Given the description of an element on the screen output the (x, y) to click on. 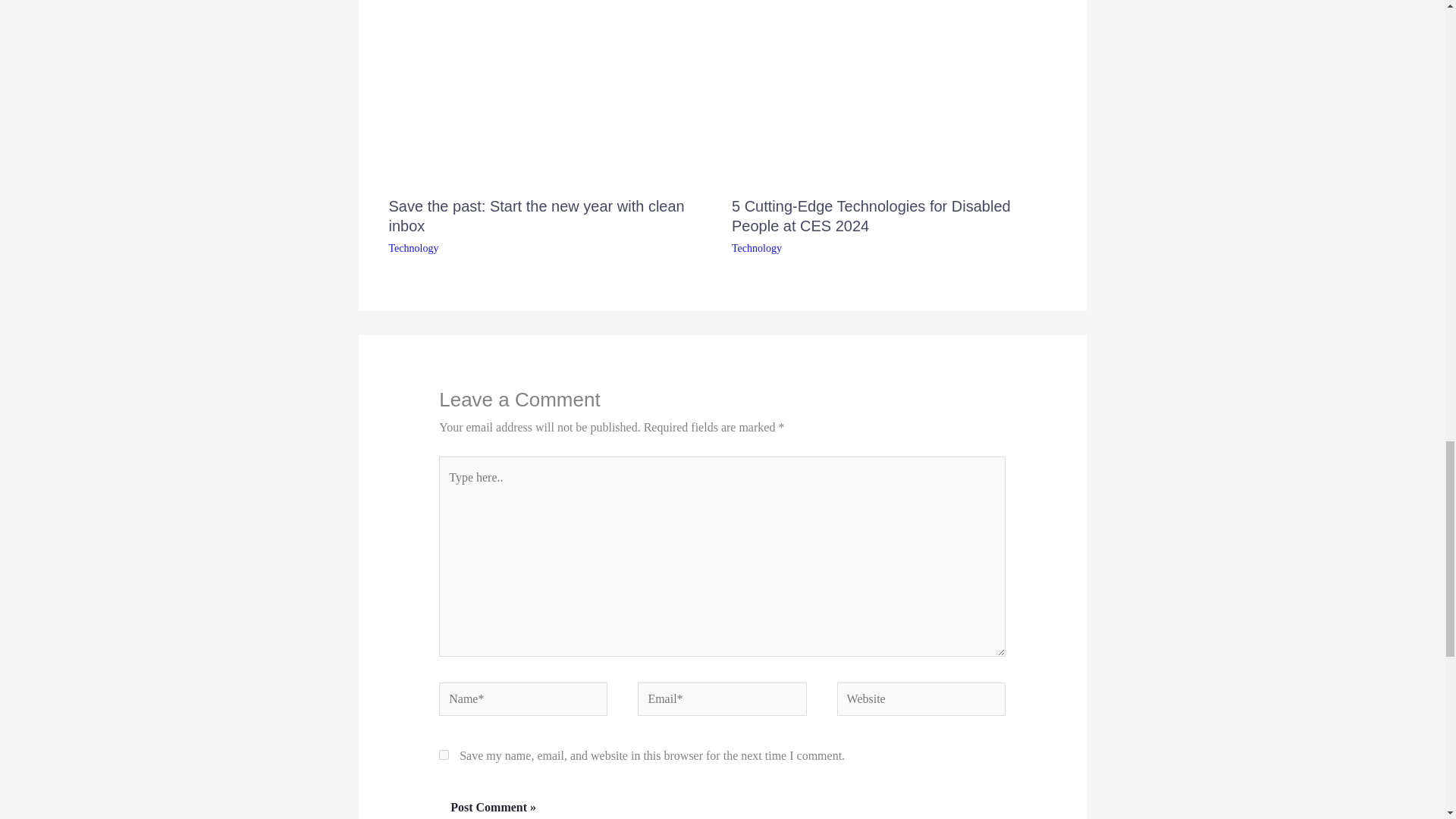
Technology (413, 247)
Save the past: Start the new year with clean inbox (536, 215)
5 Cutting-Edge Technologies for Disabled People at CES 2024 (871, 215)
Technology (756, 247)
yes (443, 755)
